Given the description of an element on the screen output the (x, y) to click on. 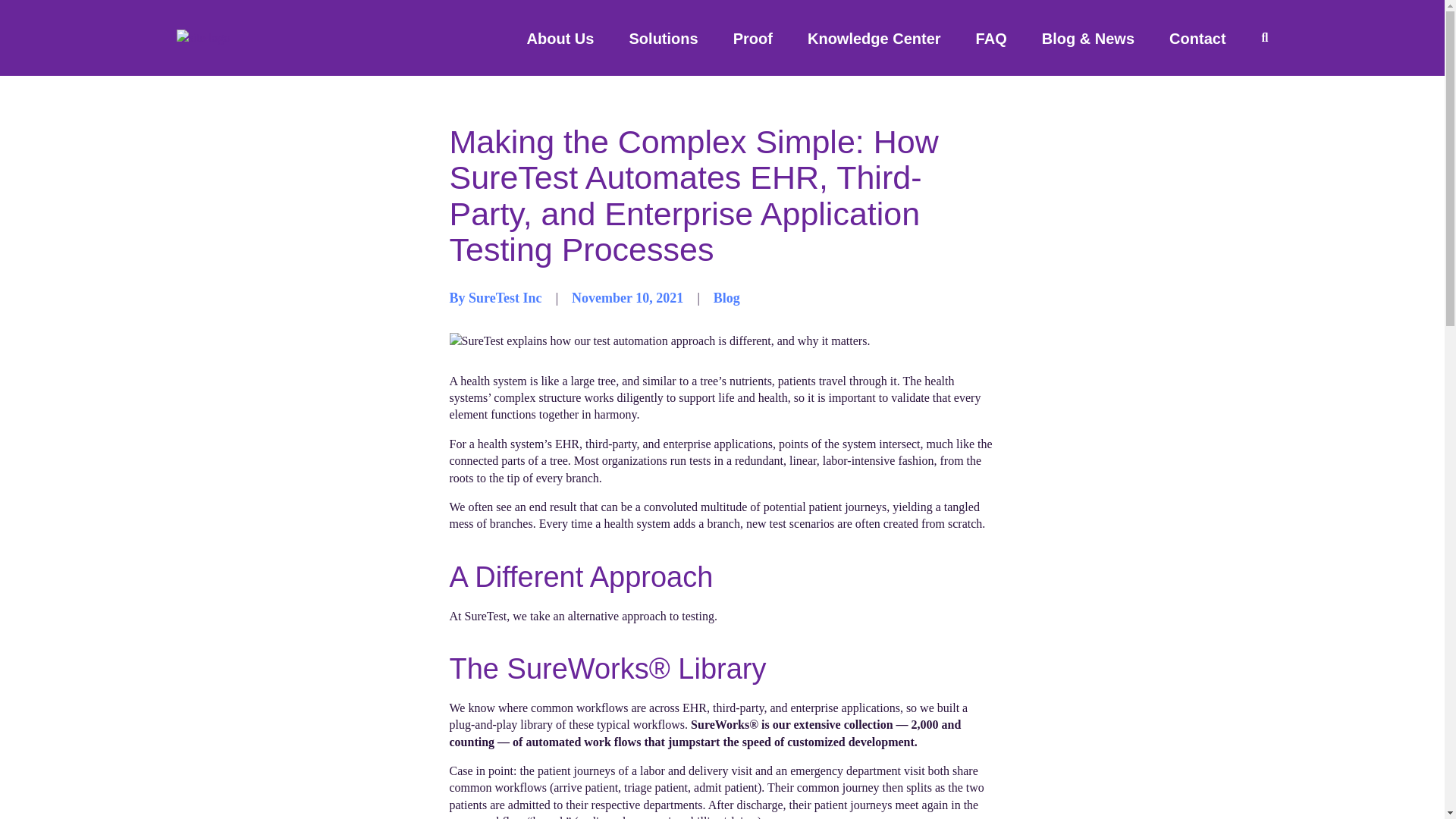
Proof (753, 38)
Solutions (662, 38)
Blog (726, 298)
Knowledge Center (874, 38)
Contact (1197, 38)
About Us (560, 38)
